Given the description of an element on the screen output the (x, y) to click on. 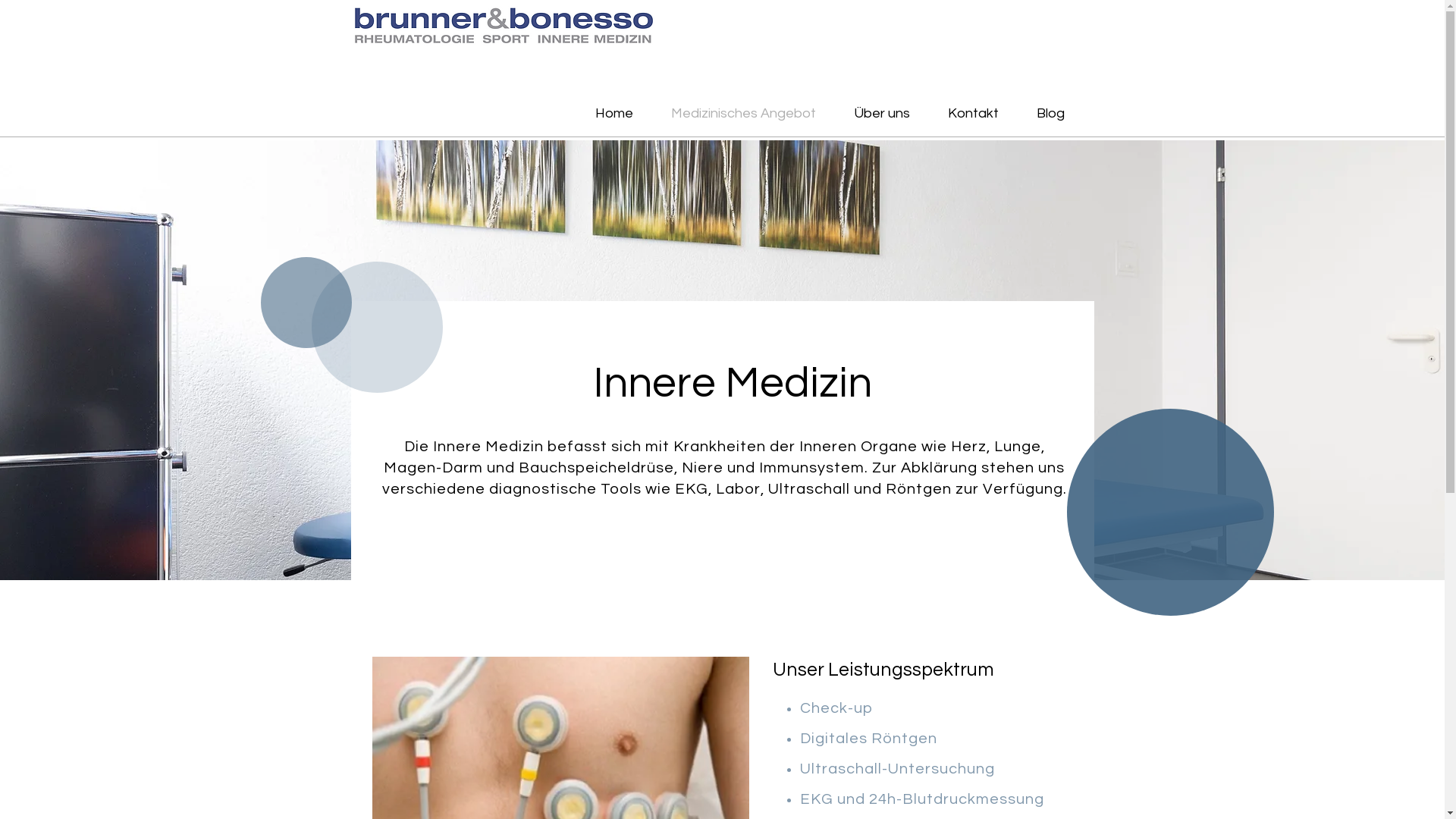
Blog Element type: text (1050, 112)
Medizinisches Angebot Element type: text (743, 112)
Home Element type: text (614, 112)
Kontakt Element type: text (972, 112)
